Given the description of an element on the screen output the (x, y) to click on. 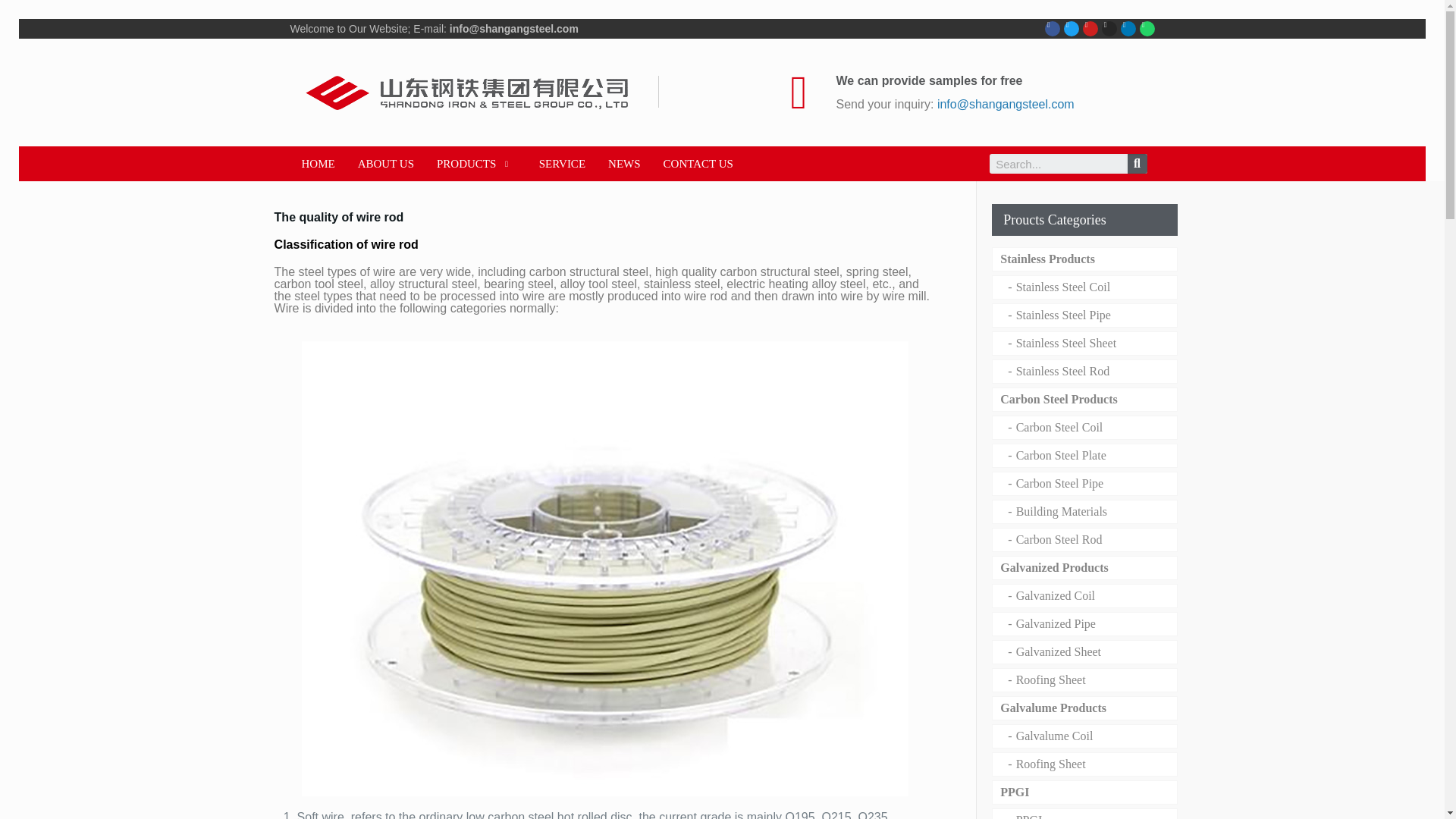
PRODUCTS (476, 163)
Search (1057, 163)
HOME (317, 163)
Search (1136, 163)
ABOUT US (385, 163)
